Given the description of an element on the screen output the (x, y) to click on. 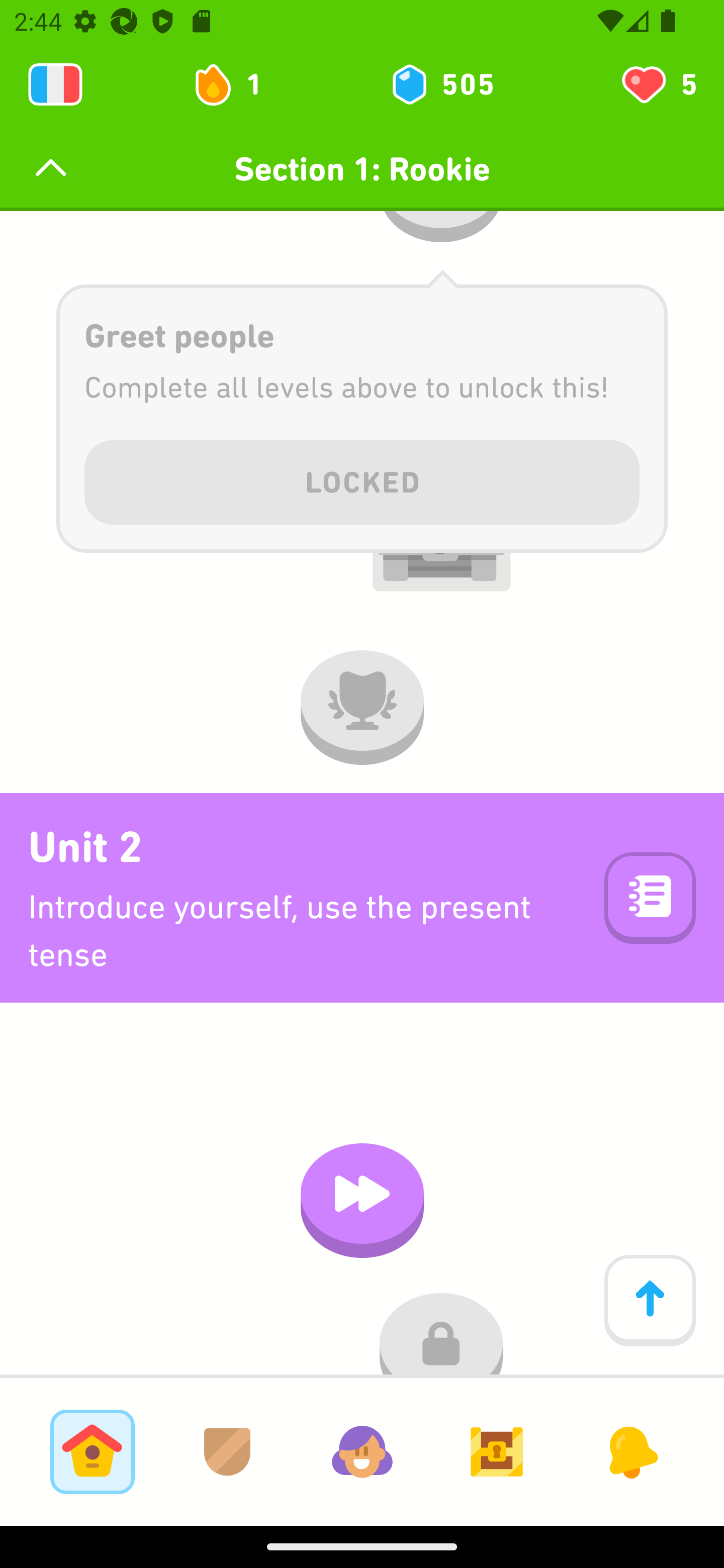
Learning 2131888976 (55, 84)
1 day streak 1 (236, 84)
505 (441, 84)
You have 5 hearts left 5 (657, 84)
Section 1: Rookie (362, 169)
LOCKED (361, 478)
Learn Tab (91, 1451)
Leagues Tab (227, 1451)
Profile Tab (361, 1451)
Goals Tab (496, 1451)
News Tab (631, 1451)
